Given the description of an element on the screen output the (x, y) to click on. 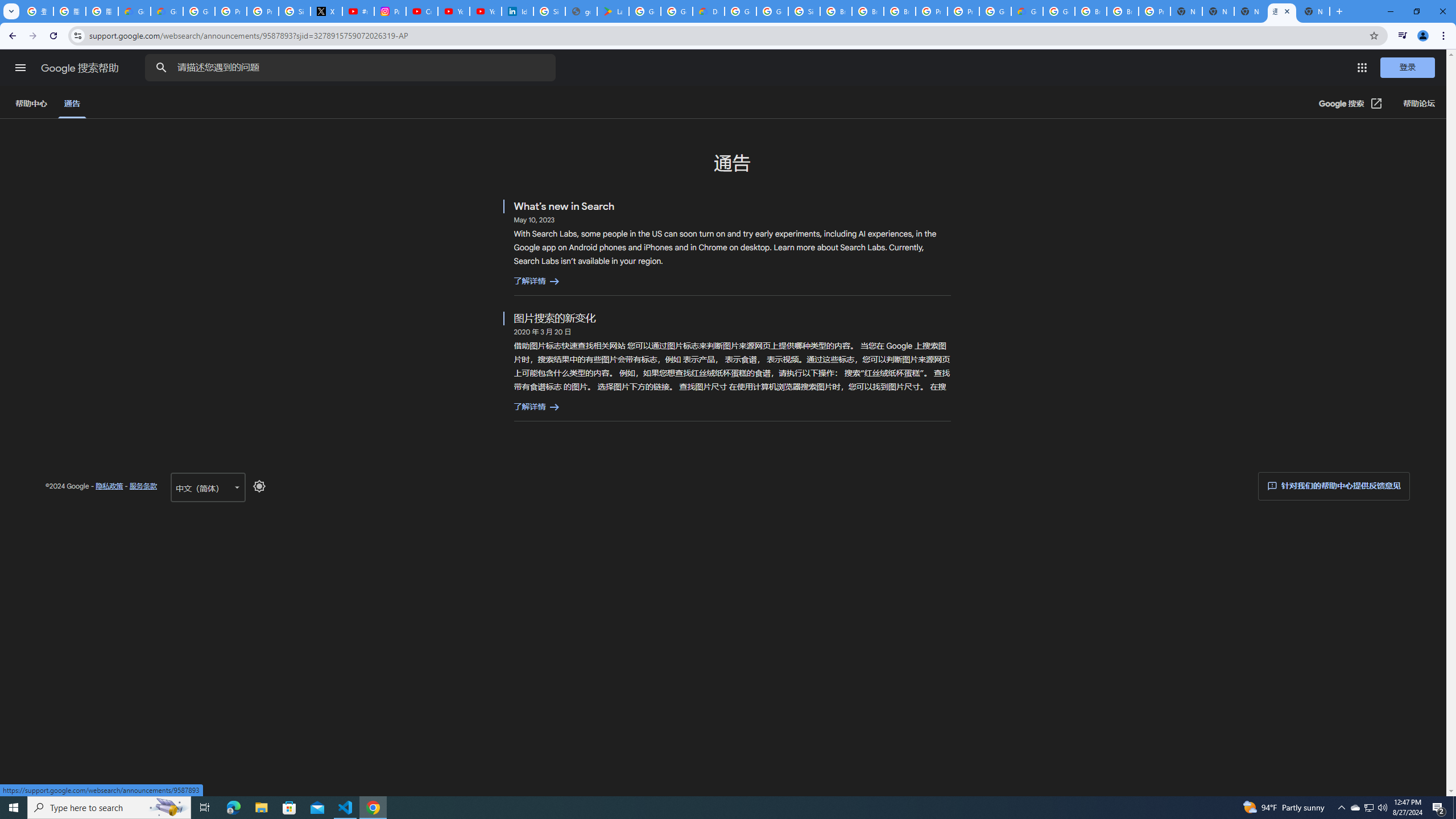
X (326, 11)
Sign in - Google Accounts (804, 11)
Sign in - Google Accounts (549, 11)
